Given the description of an element on the screen output the (x, y) to click on. 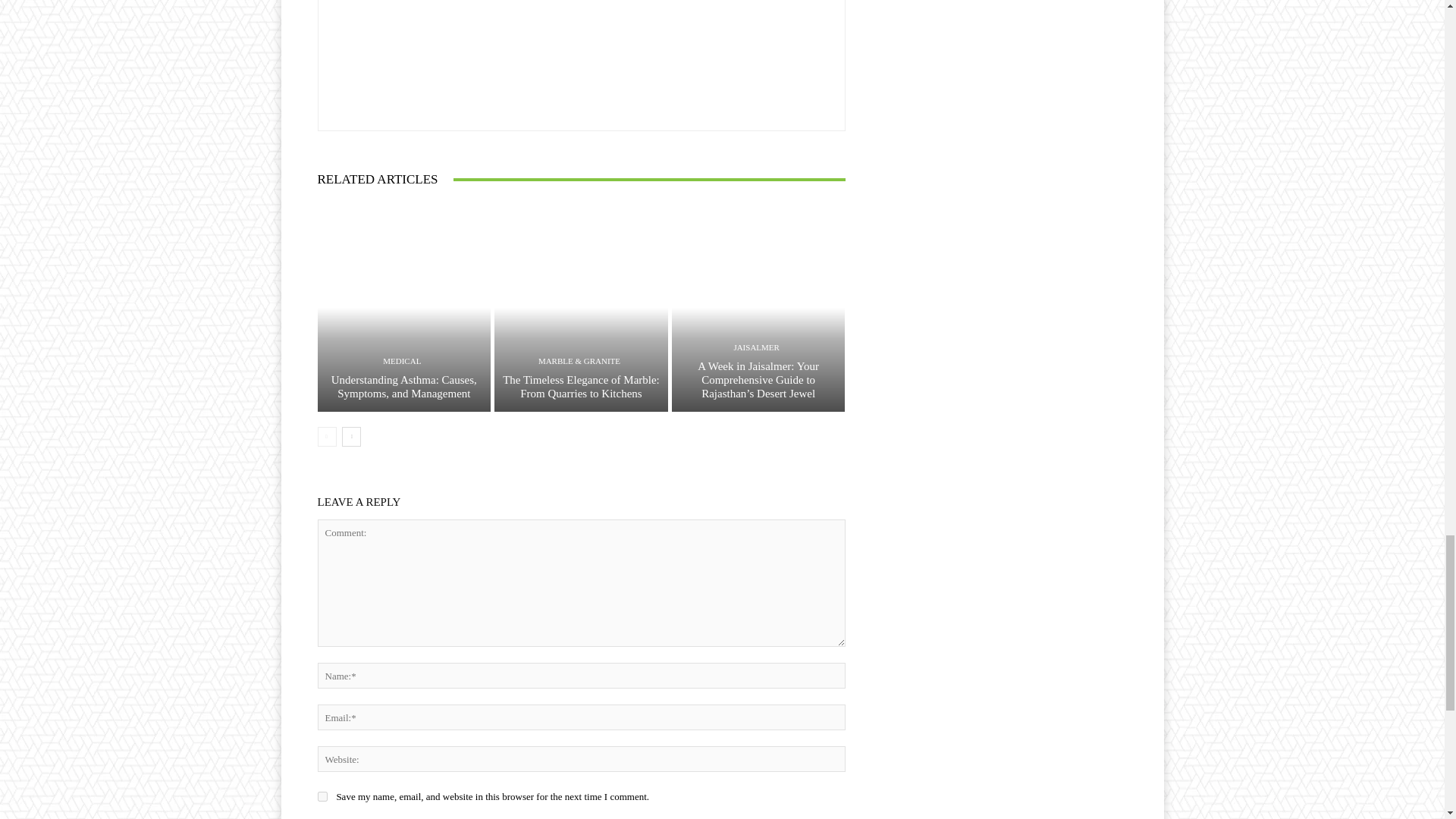
yes (321, 796)
